Given the description of an element on the screen output the (x, y) to click on. 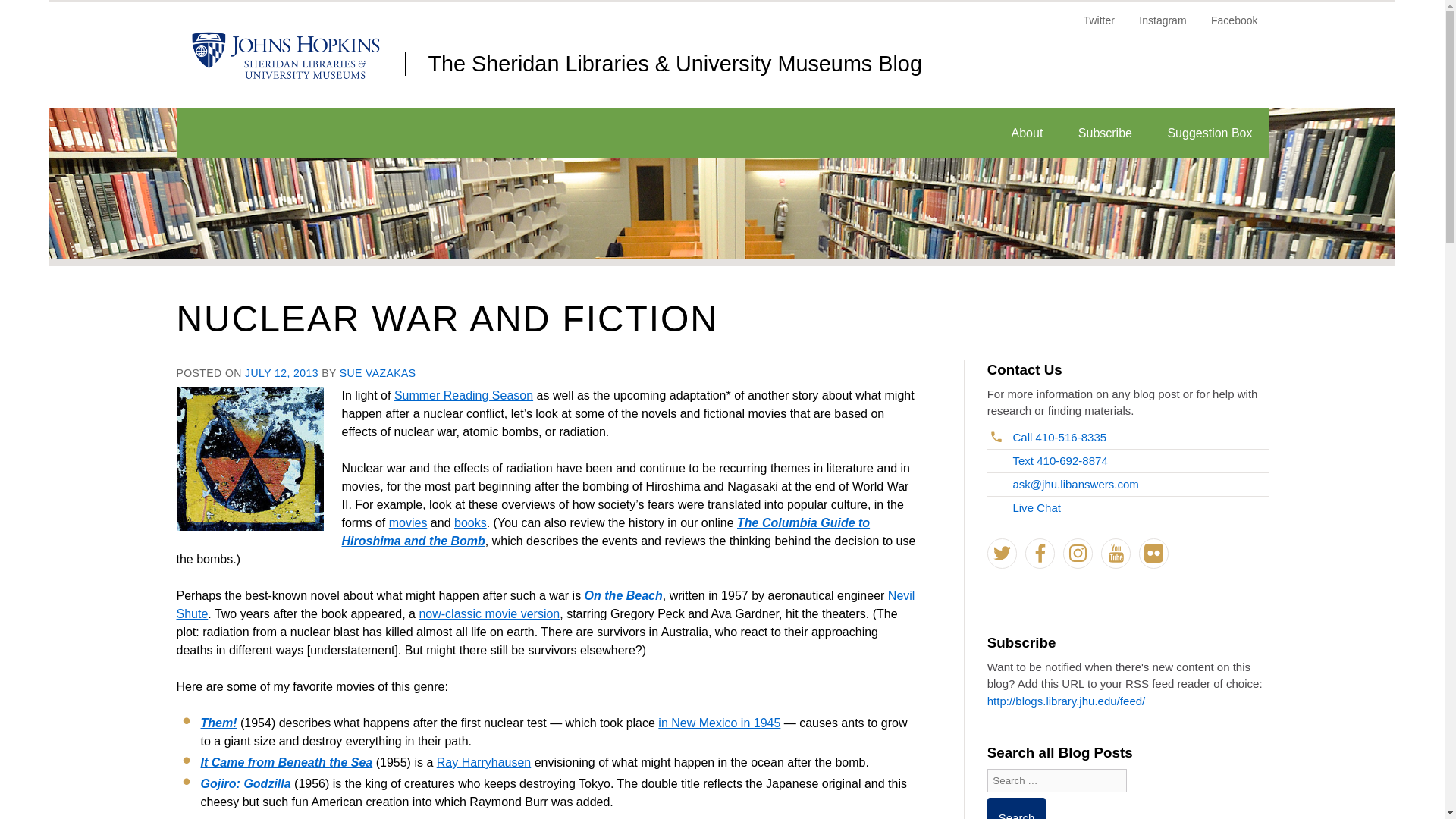
Nevil Shute (545, 603)
JULY 12, 2013 (281, 372)
It Came from Beneath the Sea (286, 762)
Ray Harryhausen (483, 762)
movies (408, 522)
Summer Reading Season (463, 395)
Twitter (1099, 25)
Gojiro: Godzilla (244, 783)
Suggestion Box (1209, 133)
On the Beach (623, 594)
